Given the description of an element on the screen output the (x, y) to click on. 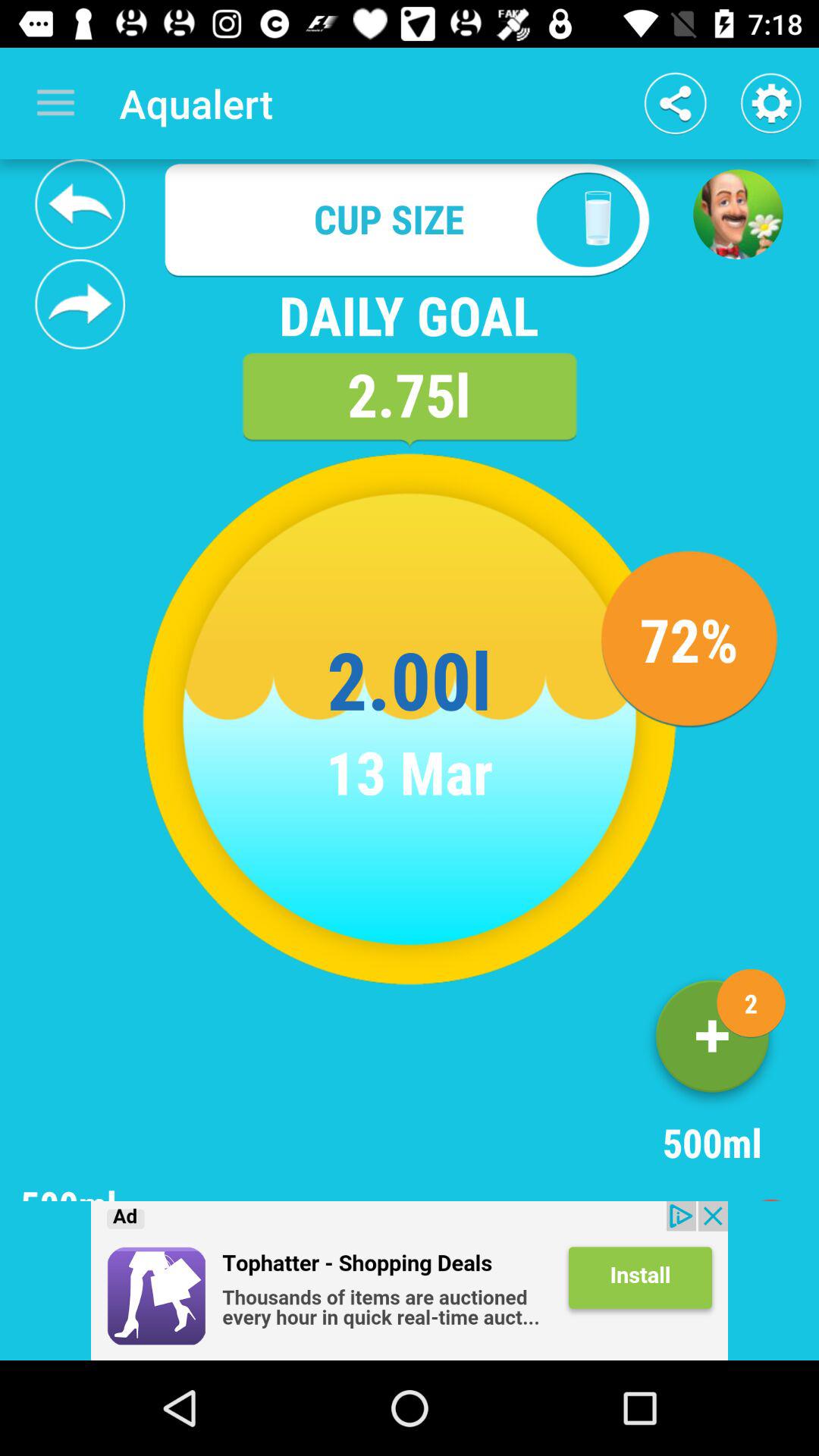
forward your daily goal (80, 304)
